Given the description of an element on the screen output the (x, y) to click on. 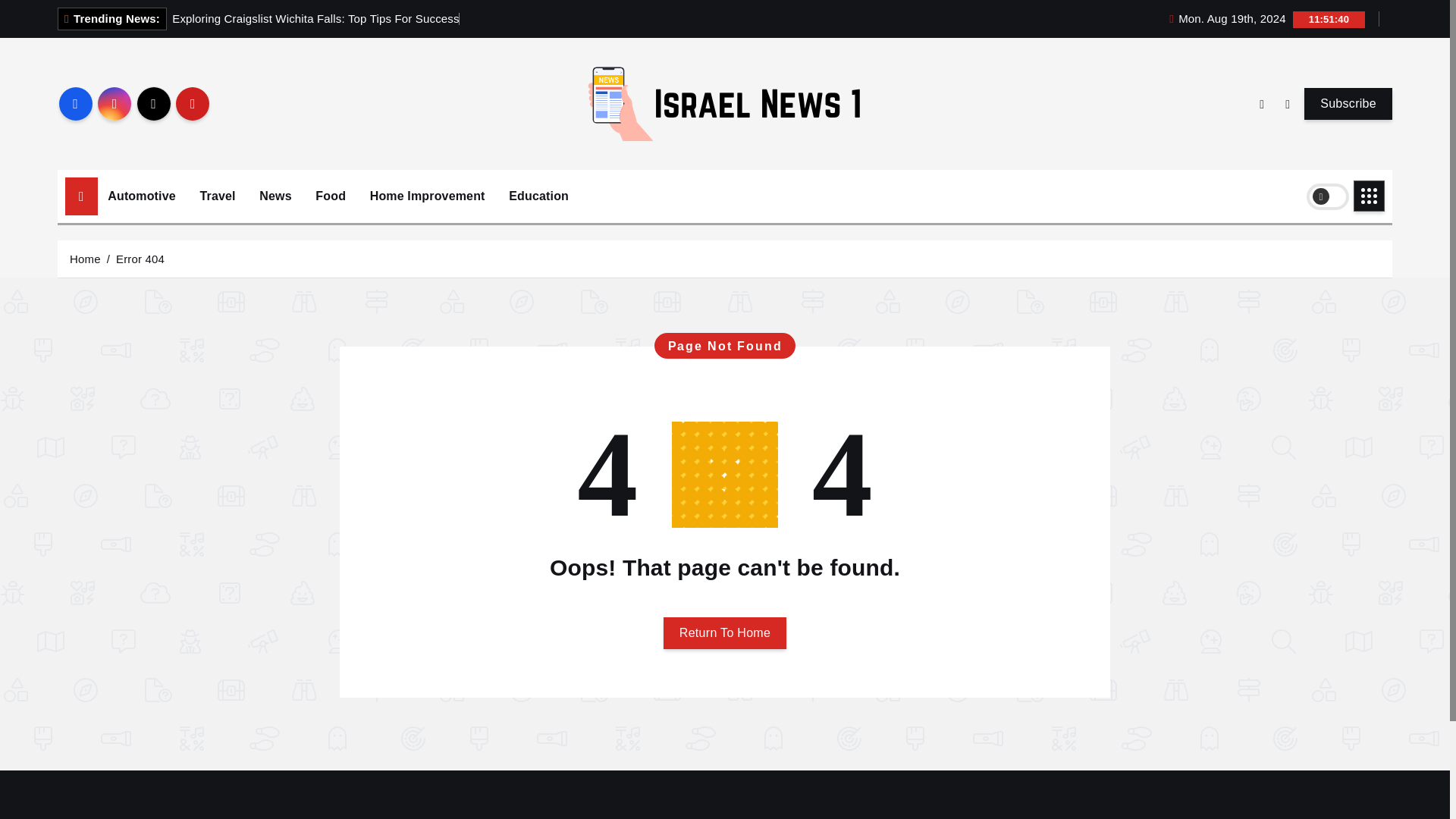
Travel (216, 196)
Food (330, 196)
Education (538, 196)
Food (330, 196)
Travel (216, 196)
Home Improvement (427, 196)
Automotive (141, 196)
News (274, 196)
Home Improvement (427, 196)
Education (538, 196)
